Given the description of an element on the screen output the (x, y) to click on. 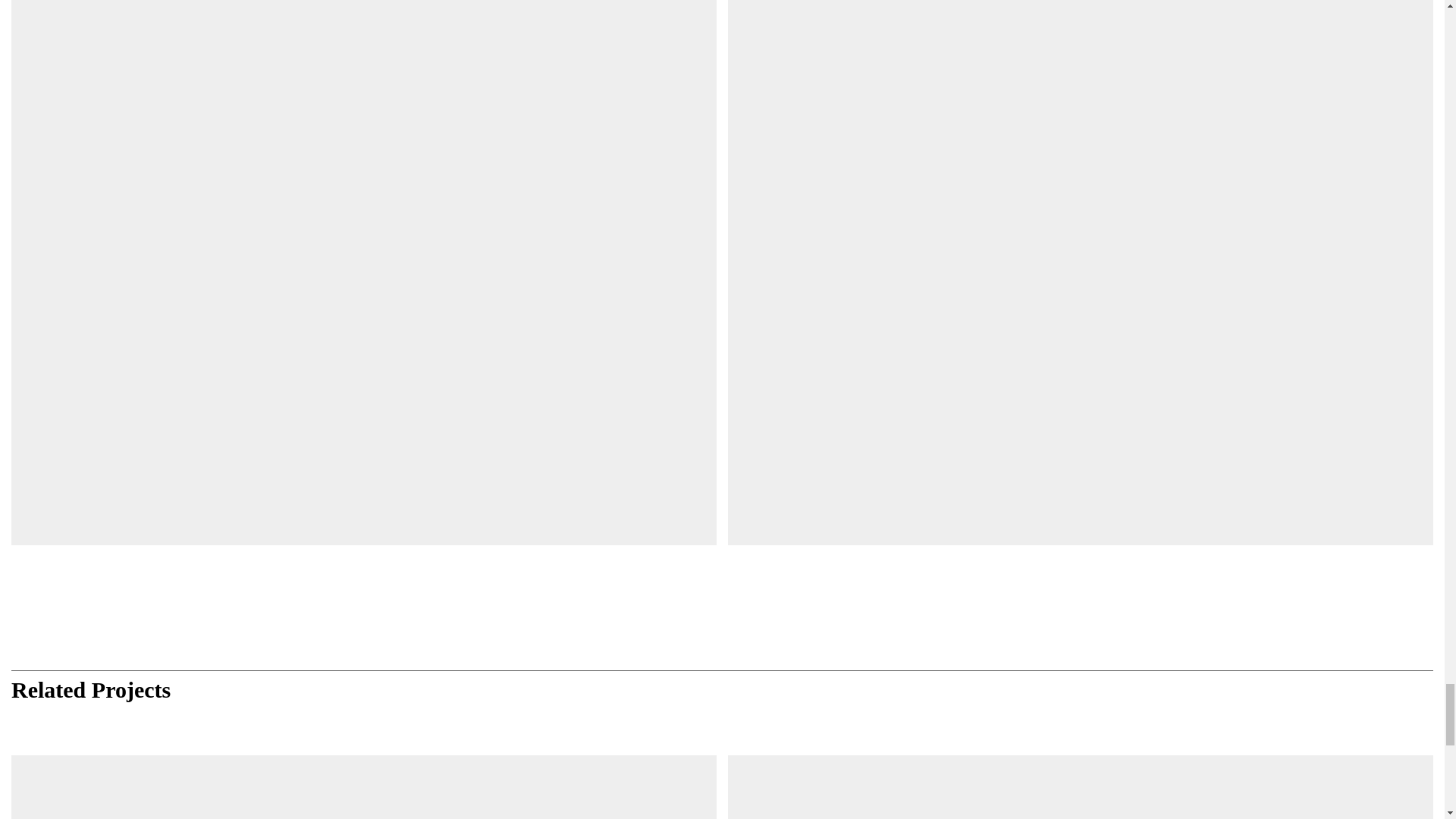
Friends of Waterfront Park (363, 787)
